Given the description of an element on the screen output the (x, y) to click on. 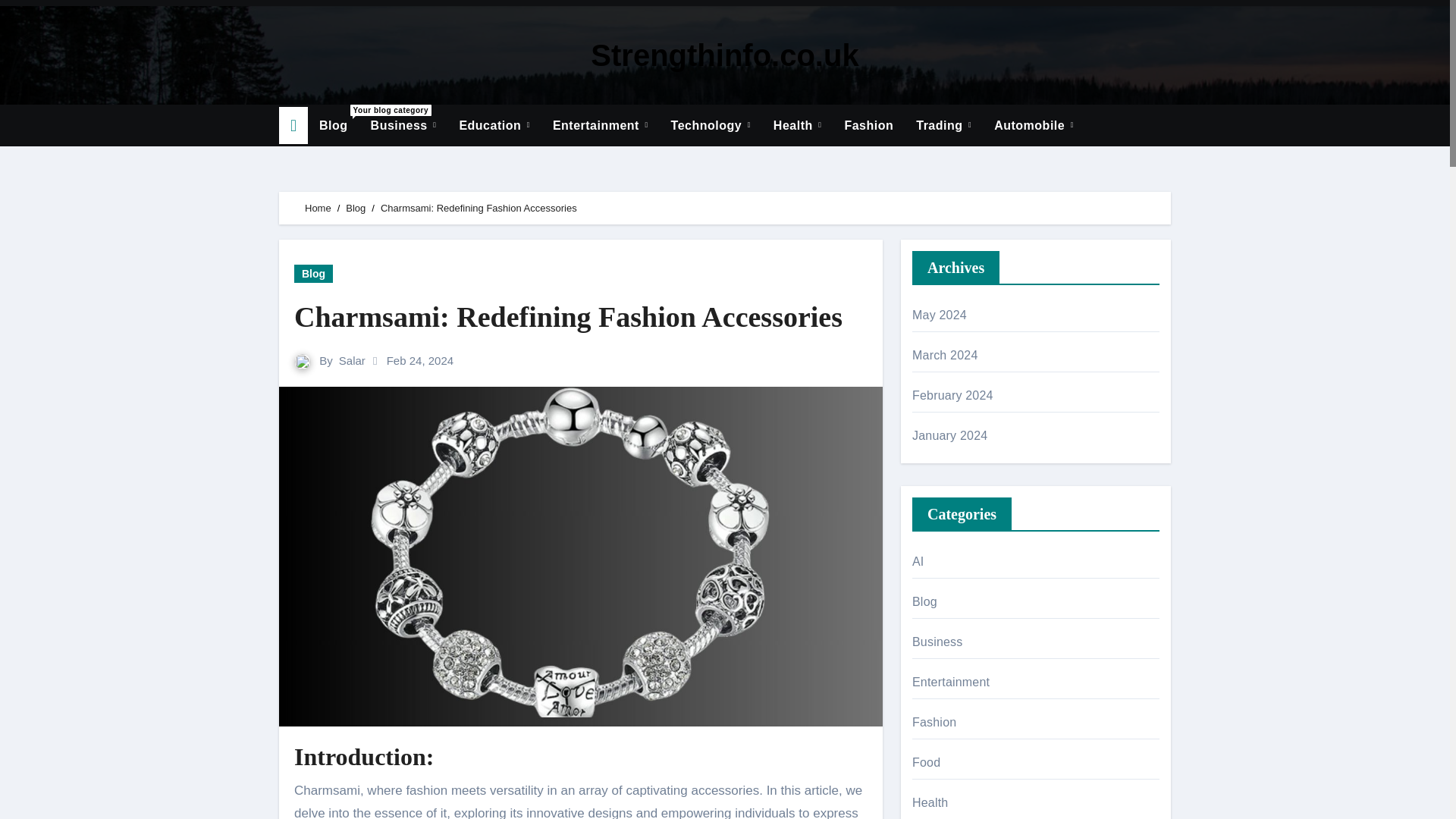
Entertainment (600, 125)
Technology (710, 125)
Fashion (868, 125)
Entertainment (600, 125)
Education (493, 125)
Business (333, 125)
Education (403, 125)
Business (493, 125)
Automobile (403, 125)
